Given the description of an element on the screen output the (x, y) to click on. 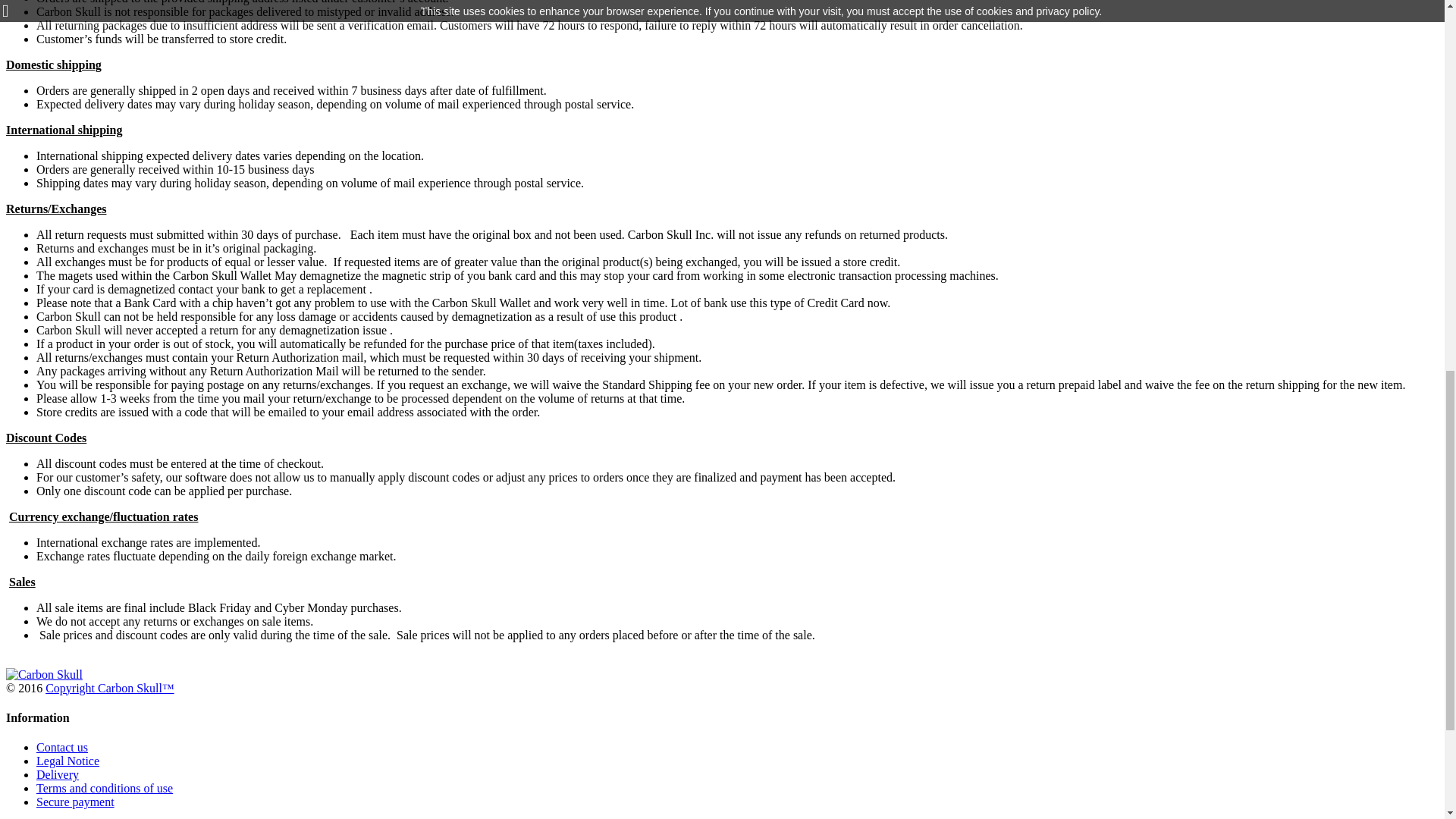
Secure payment (75, 801)
Contact us (61, 747)
Legal Notice (67, 760)
Terms and conditions of use (104, 788)
Carbon Skull (43, 674)
Legal Notice (67, 760)
Contact us (61, 747)
Delivery (57, 774)
